Given the description of an element on the screen output the (x, y) to click on. 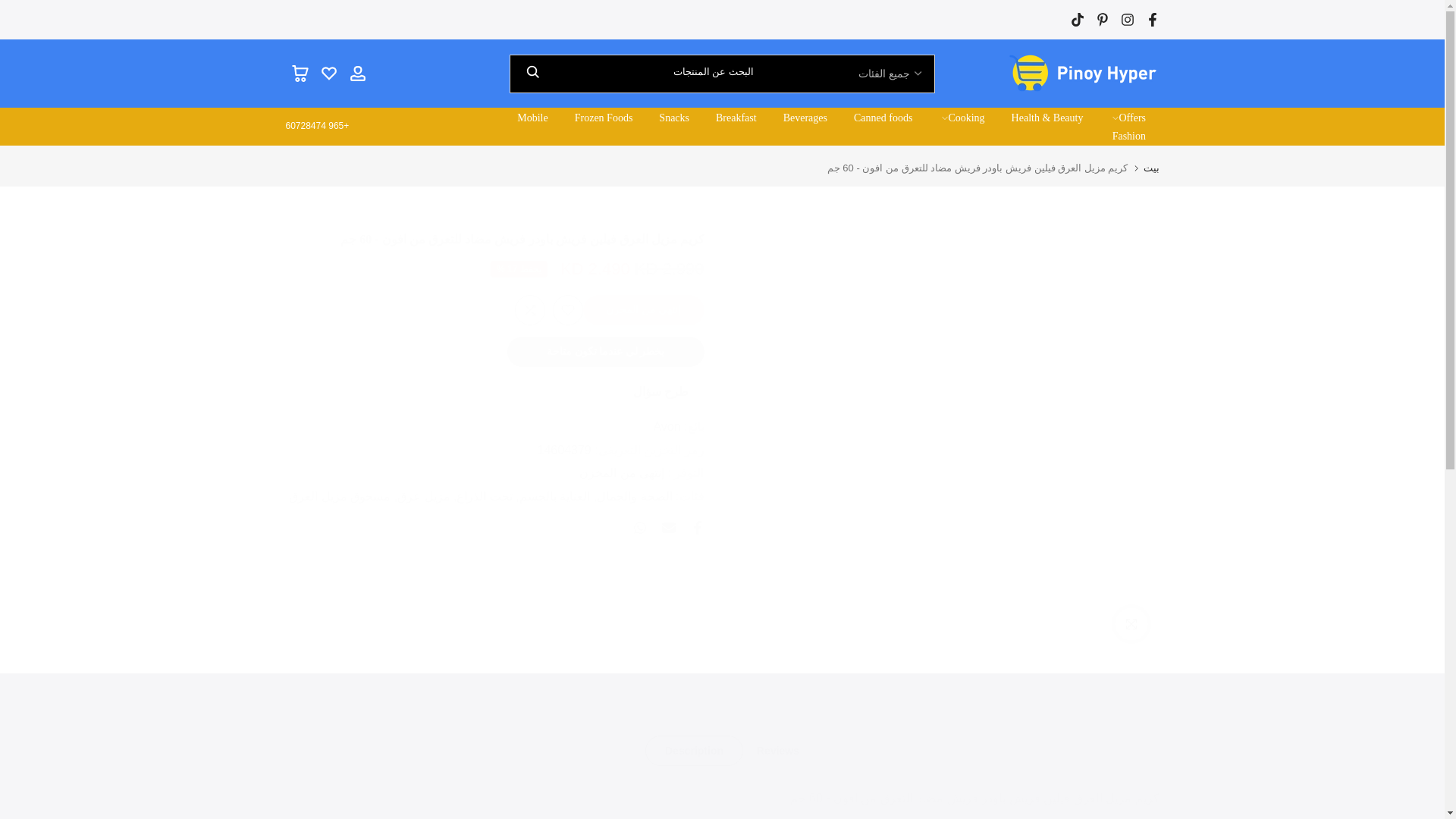
Share on Facebook (696, 527)
Beverages (805, 117)
Description (693, 750)
Share on WhatsApp (638, 527)
Canned foods (882, 117)
Frozen Foods (603, 117)
Mobile (531, 117)
Fashion (1128, 136)
Share on Email (668, 527)
Cooking (961, 117)
Breakfast (736, 117)
Avon (665, 426)
Offers (1127, 117)
Snacks (674, 117)
